Given the description of an element on the screen output the (x, y) to click on. 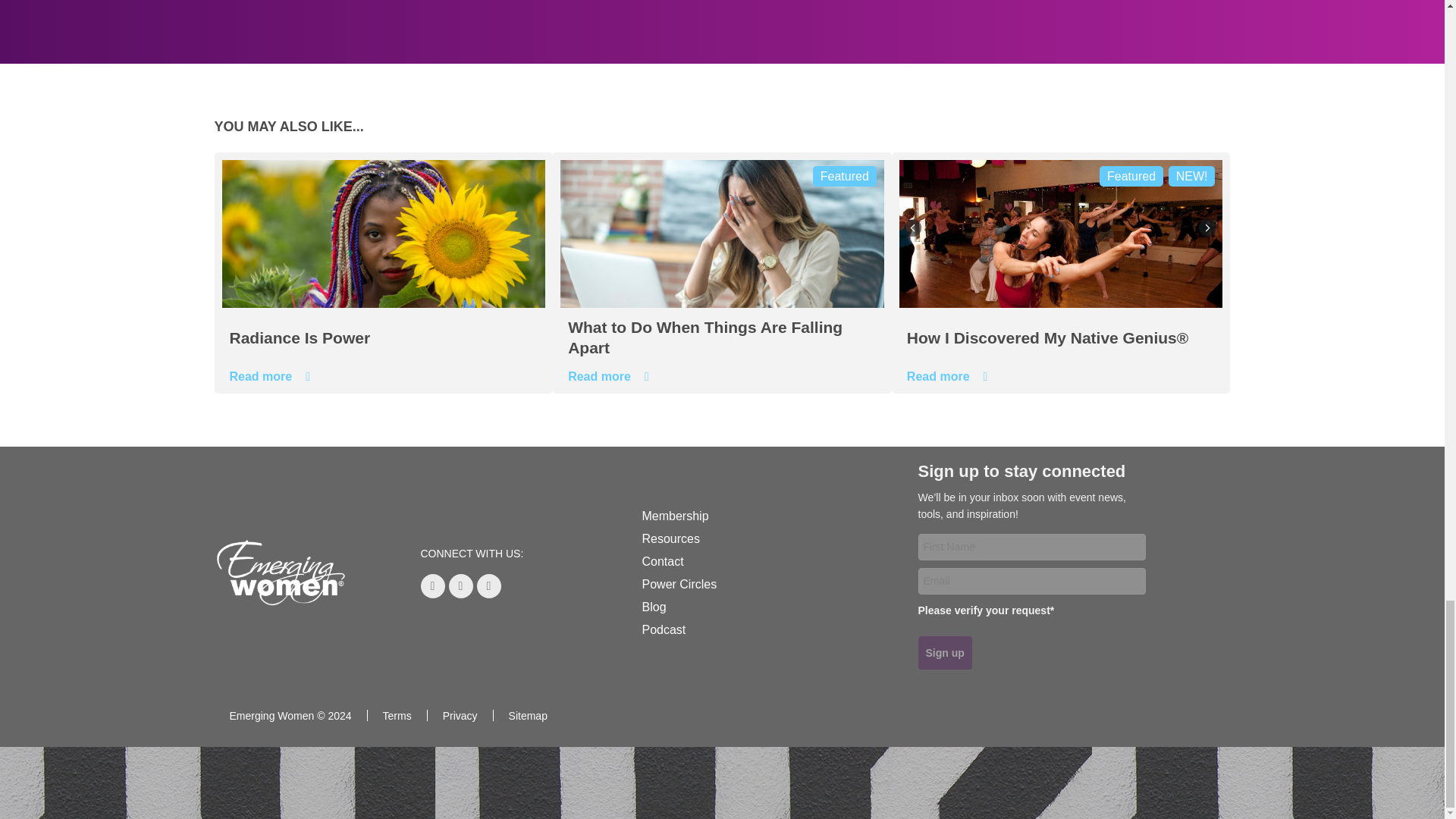
Homepage (280, 572)
